Given the description of an element on the screen output the (x, y) to click on. 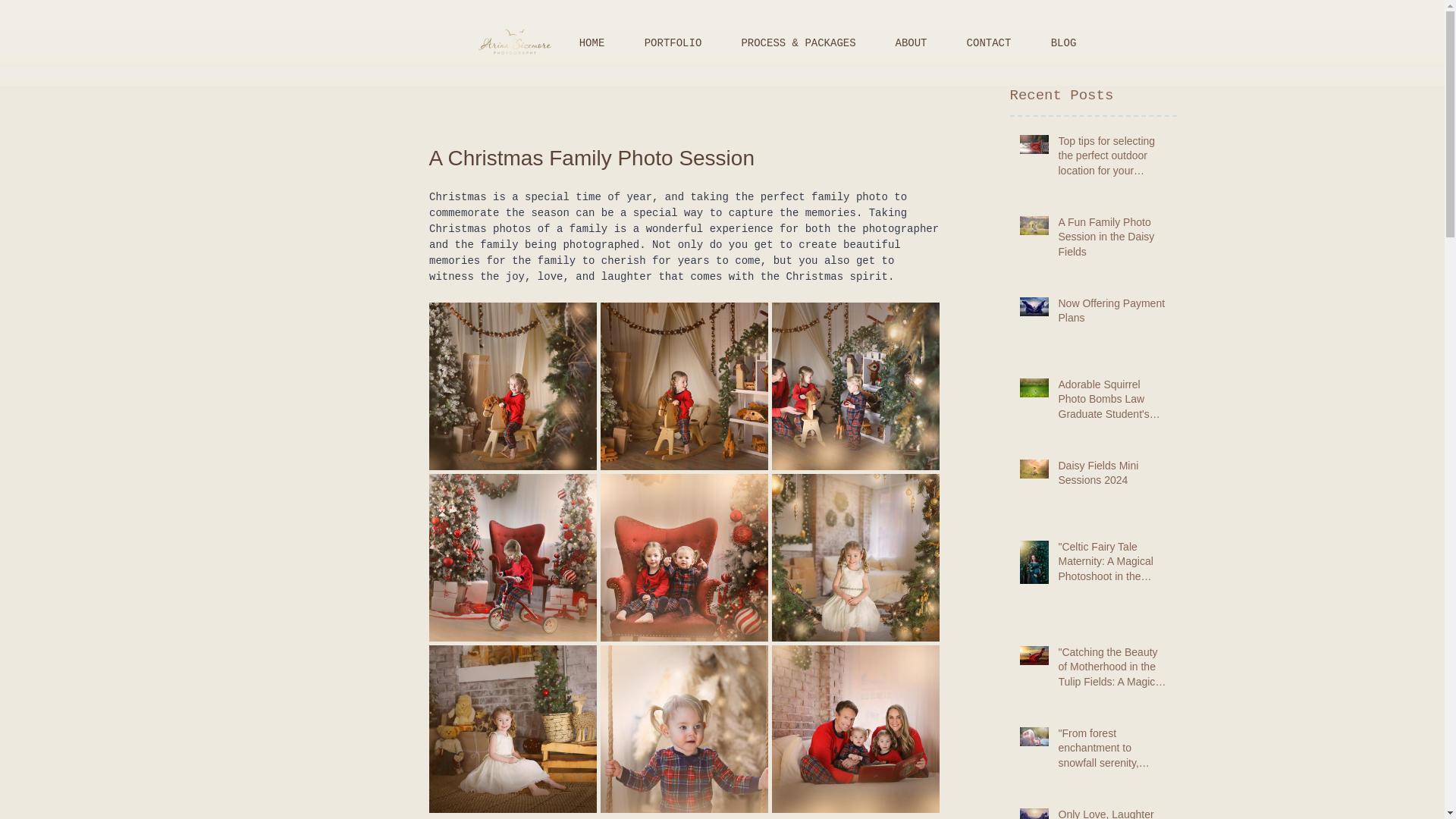
A Fun Family Photo Session in the Daisy Fields (1112, 240)
ABOUT (910, 43)
Logo Arina Sizemore Photography.png (514, 42)
HOME (591, 43)
Now Offering Payment Plans (1112, 314)
BLOG (1063, 43)
Daisy Fields Mini Sessions 2024 (1112, 476)
PORTFOLIO (673, 43)
CONTACT (988, 43)
